Given the description of an element on the screen output the (x, y) to click on. 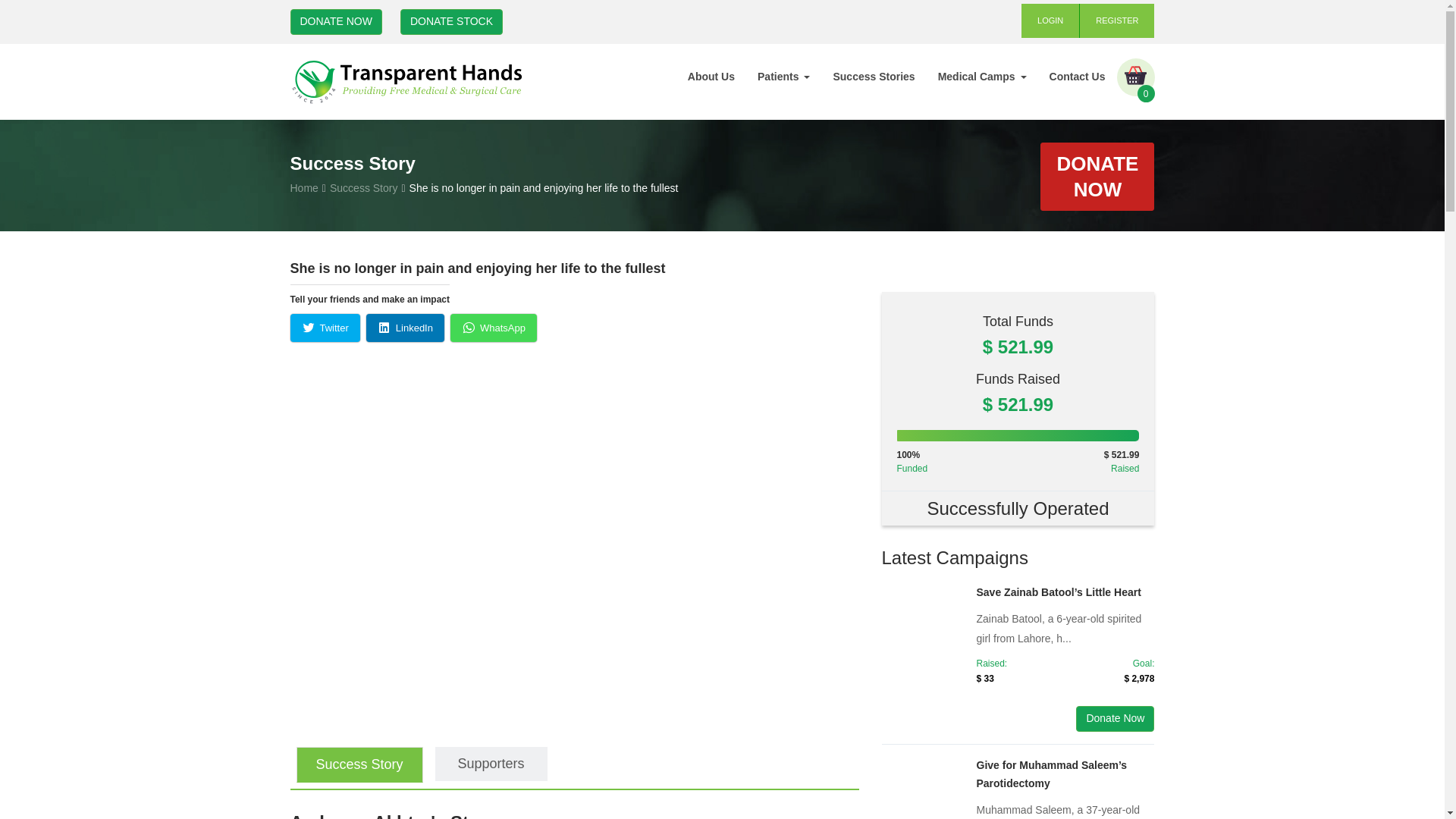
Medical Camps (982, 76)
DONATE NOW (1097, 176)
DONATE STOCK (451, 22)
REGISTER (1117, 20)
LOGIN (1051, 20)
Donate Now (1114, 718)
Click to share on LinkedIn (405, 327)
Contact Us (1077, 76)
About Us (711, 76)
Success Story (363, 187)
Success Stories (873, 76)
DONATE NOW (335, 22)
Click to share on WhatsApp (493, 327)
WhatsApp (493, 327)
Twitter (324, 327)
